Given the description of an element on the screen output the (x, y) to click on. 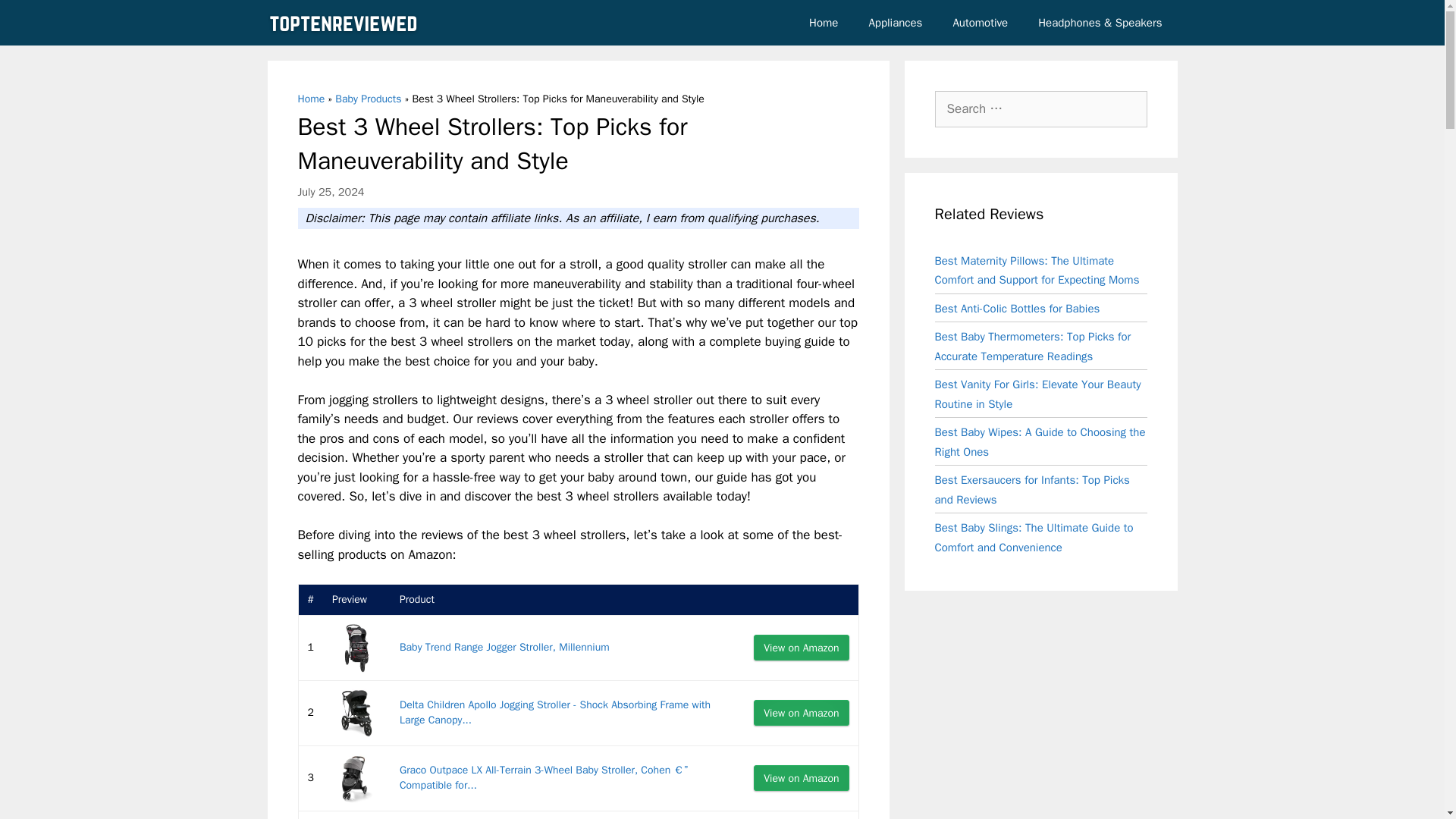
Appliances (895, 22)
Home (310, 98)
Home (823, 22)
Baby Products (367, 98)
TopTenReviewed (342, 22)
Baby Trend Range Jogger Stroller, Millennium (504, 646)
Baby Trend Range Jogger Stroller, Millennium (356, 647)
Baby Trend Range Jogger Stroller, Millennium (504, 646)
Automotive (980, 22)
